Given the description of an element on the screen output the (x, y) to click on. 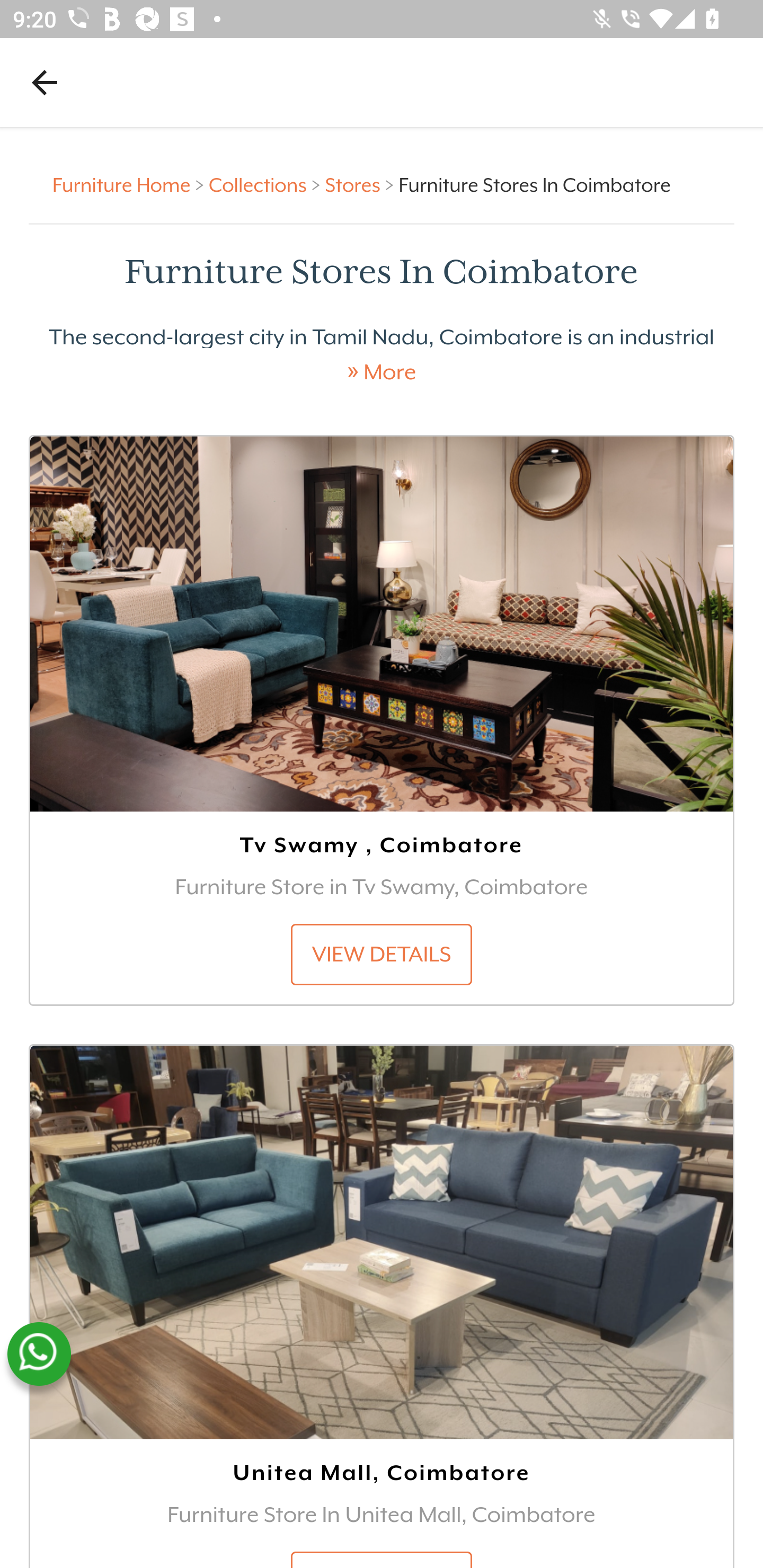
Navigate up (44, 82)
Furniture Home >  Furniture Home  >  (130, 184)
Collections >  Collections  >  (266, 184)
Stores >  Stores  >  (361, 184)
» More (381, 372)
VIEW DETAILS (381, 953)
whatsapp (38, 1353)
